Given the description of an element on the screen output the (x, y) to click on. 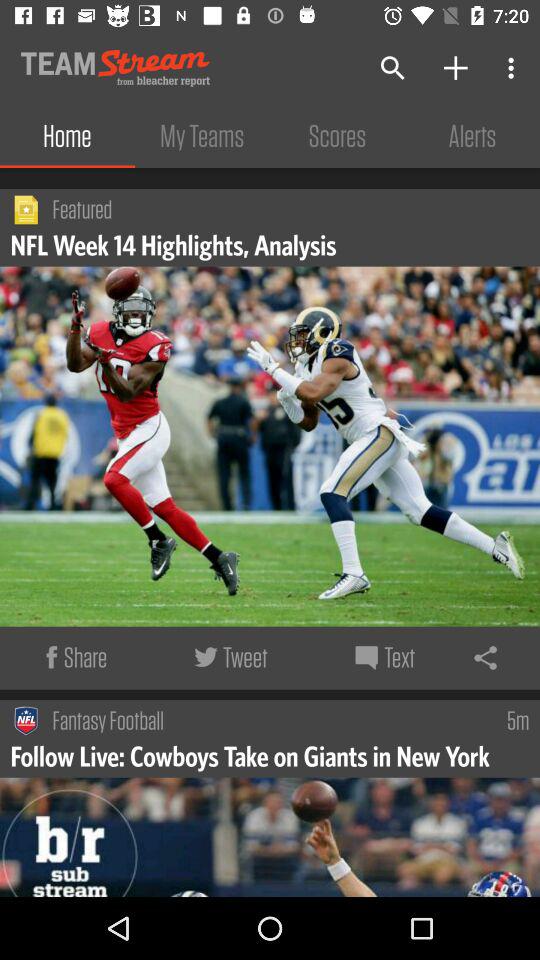
launch the item above the scores icon (392, 67)
